Given the description of an element on the screen output the (x, y) to click on. 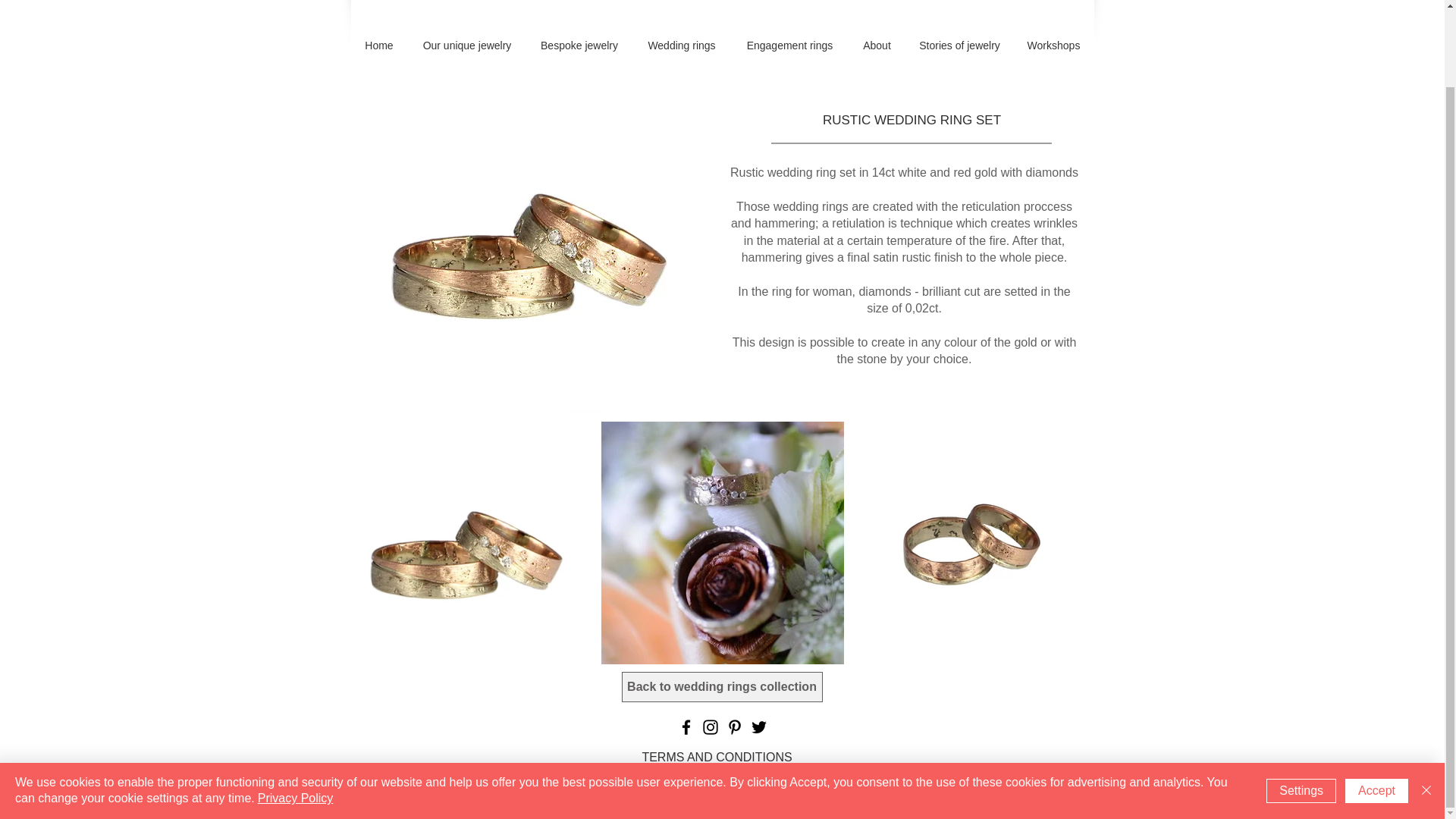
Engagement rings (788, 45)
Home (378, 45)
Back to wedding rings collection (721, 686)
TERMS AND CONDITIONS (717, 757)
Accept (1376, 704)
About (876, 45)
Bespoke jewelry (578, 45)
Settings (1301, 704)
Stories of jewelry (959, 45)
Privacy Policy (295, 711)
Workshops (1053, 45)
Wedding rings (681, 45)
